Given the description of an element on the screen output the (x, y) to click on. 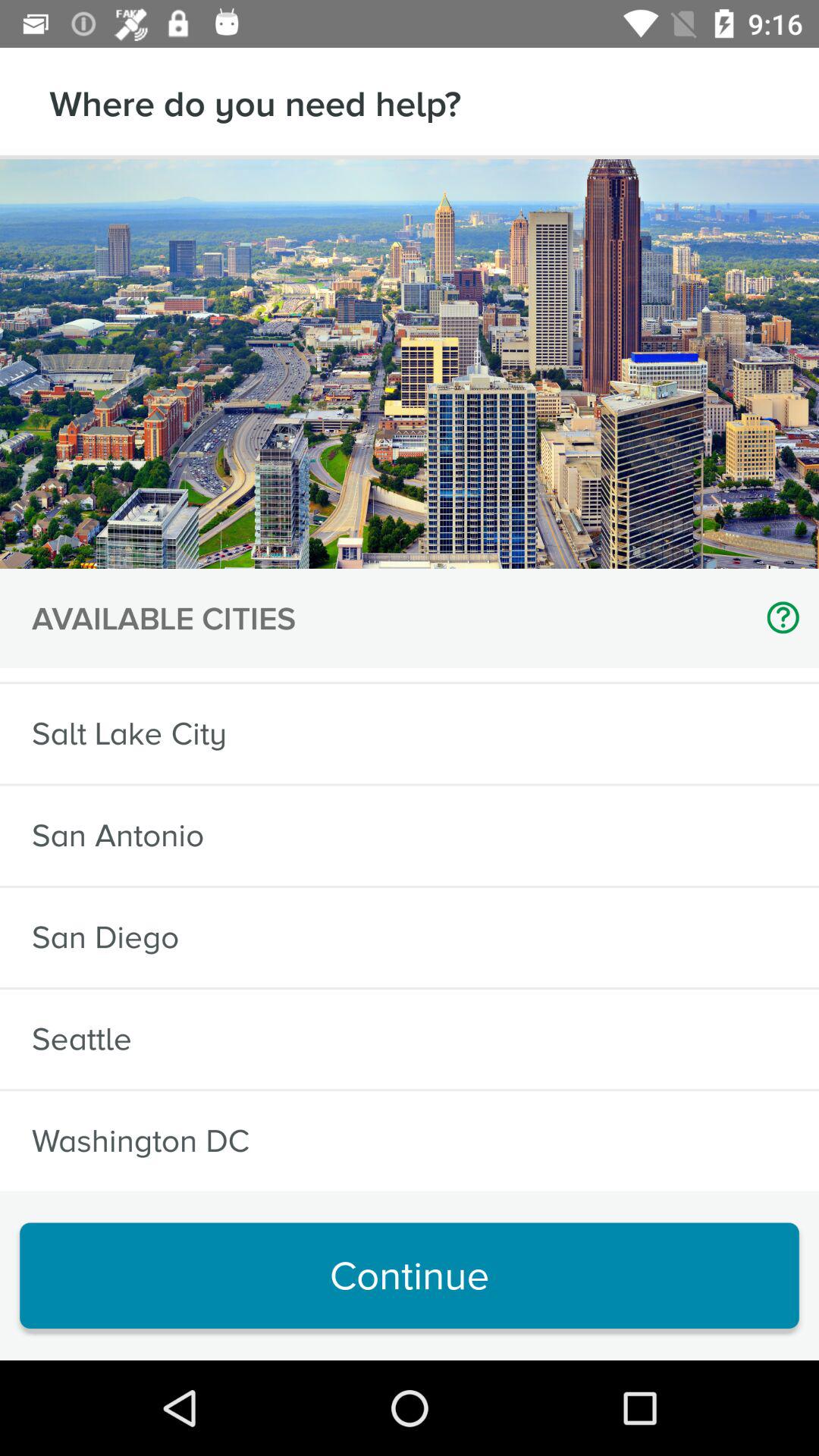
swipe until the salt lake city (128, 733)
